Given the description of an element on the screen output the (x, y) to click on. 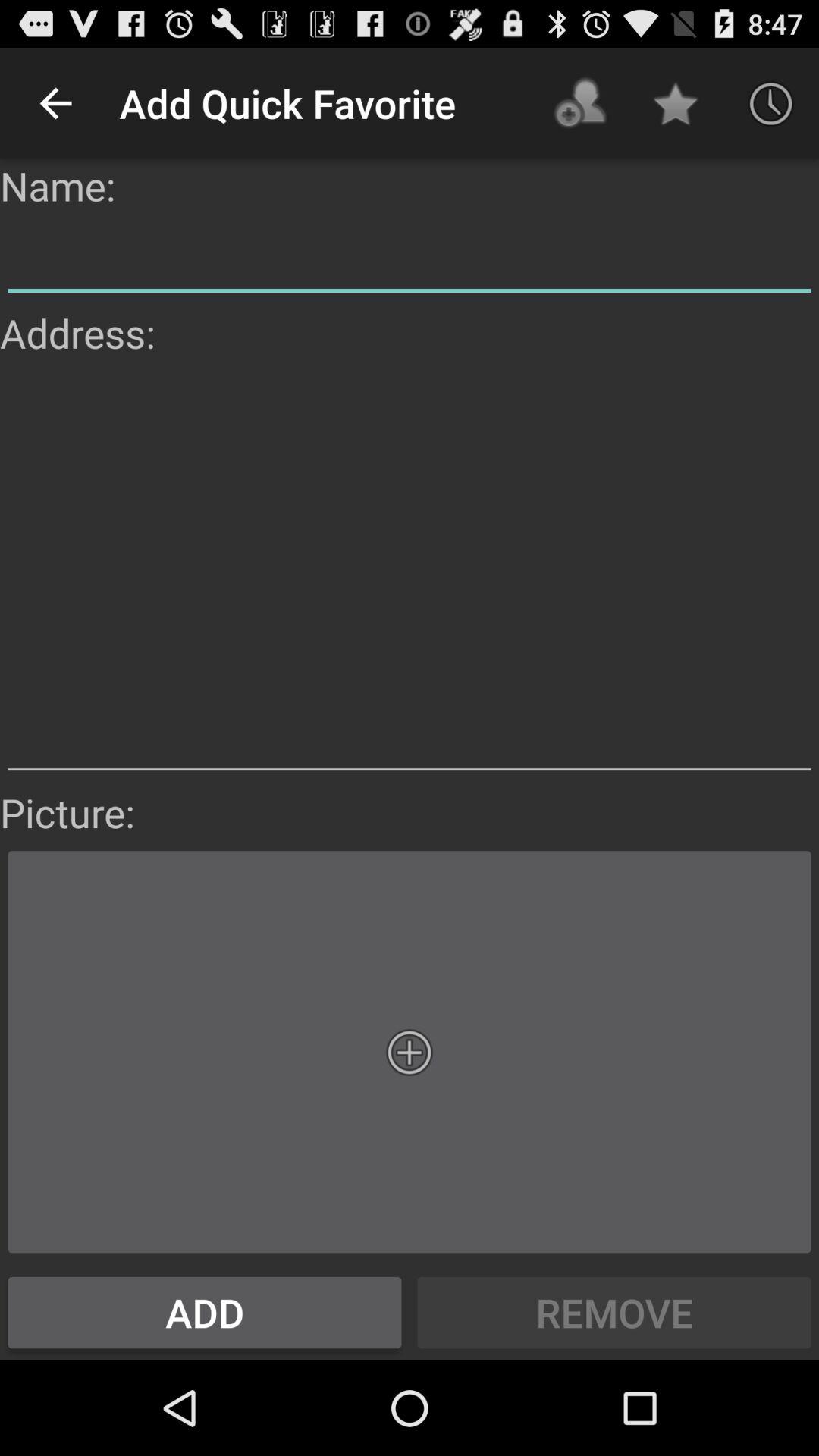
address (409, 572)
